Given the description of an element on the screen output the (x, y) to click on. 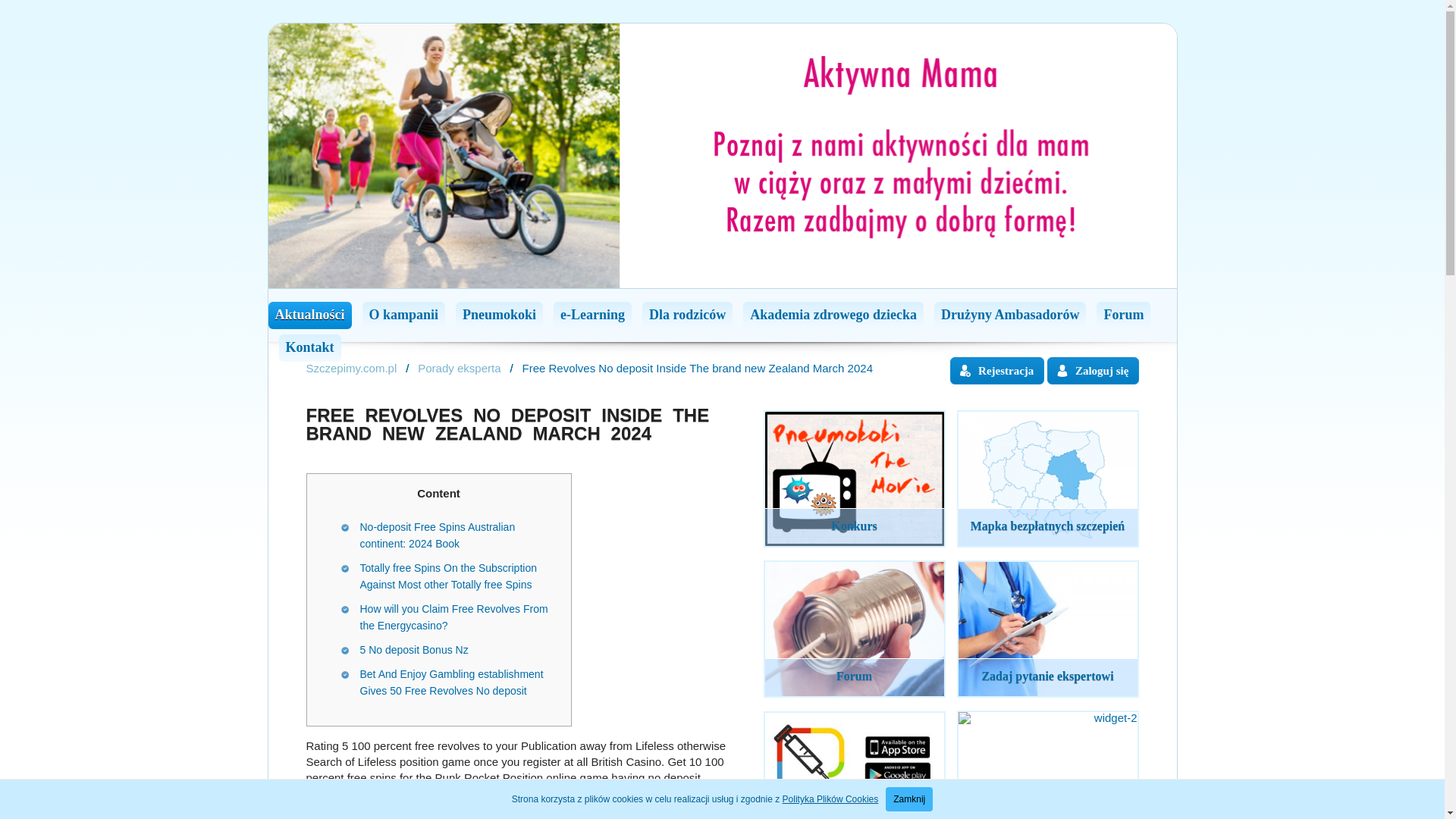
Homepage (351, 367)
Pneumokoki (499, 315)
e-Learning (592, 315)
O kampanii (403, 315)
Akademia zdrowego dziecka (832, 315)
